Given the description of an element on the screen output the (x, y) to click on. 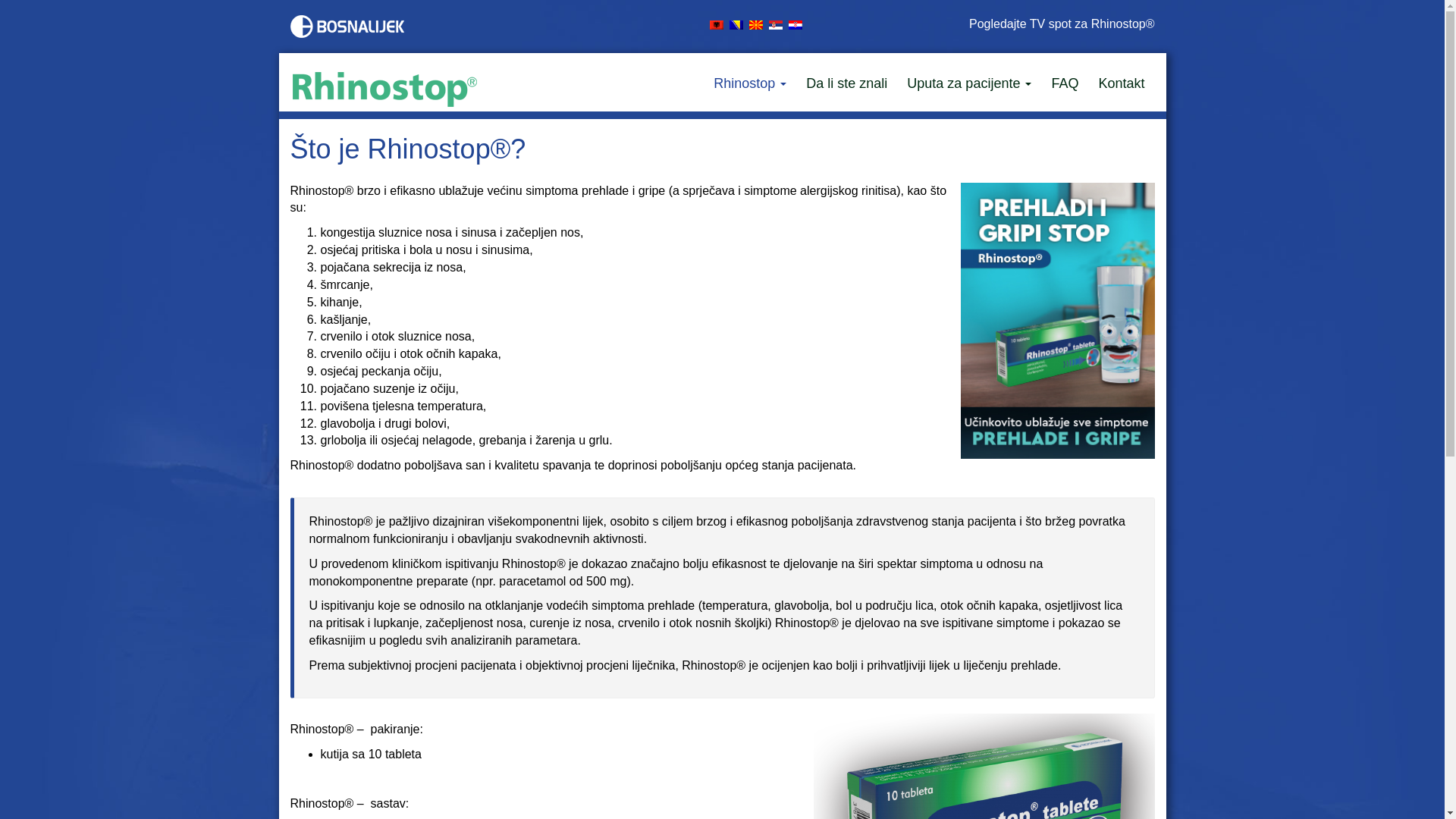
Da li ste znali Element type: text (846, 82)
Albanian Element type: hover (716, 24)
Skip to content Element type: text (0, 0)
  Element type: text (774, 23)
  Element type: text (794, 23)
Rhinostop Element type: text (749, 82)
Bosnian Element type: hover (736, 24)
Kontakt Element type: text (1121, 82)
  Element type: text (755, 23)
  Element type: text (735, 23)
FAQ Element type: text (1064, 82)
  Element type: text (714, 23)
Hrvatski Element type: hover (795, 24)
Uputa za pacijente Element type: text (969, 82)
